Given the description of an element on the screen output the (x, y) to click on. 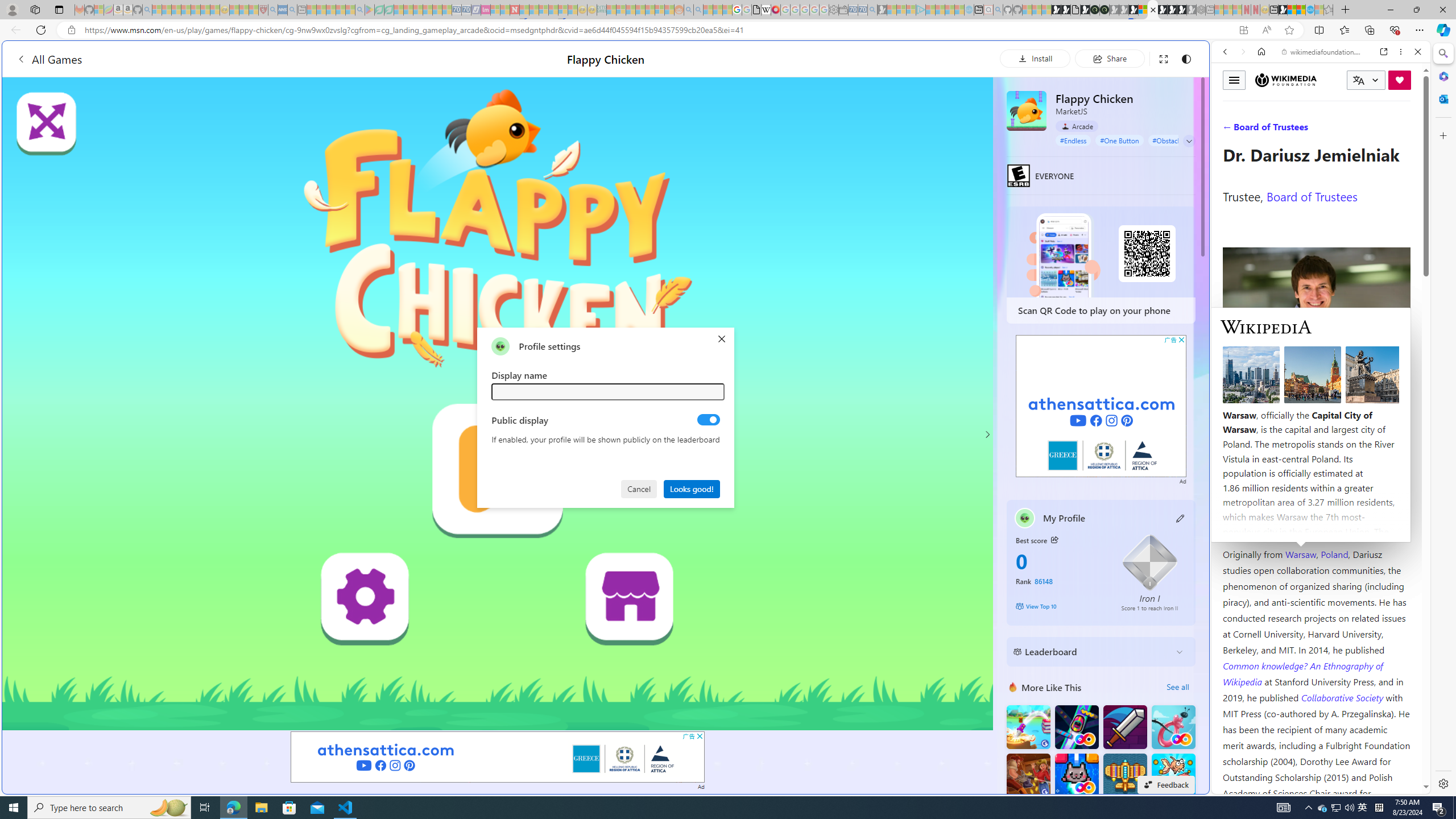
Bluey: Let's Play! - Apps on Google Play - Sleeping (369, 9)
Refresh (40, 29)
Wikimedia Foundation (1286, 79)
Arcade (1076, 126)
More Like This (1012, 686)
Kozminski University (1316, 486)
SEARCH TOOLS (1350, 130)
Browser essentials (1394, 29)
Collaborative Society  (1343, 697)
Ad (1182, 480)
App bar (728, 29)
Looks good! (691, 488)
Wikimedia Foundation (1285, 79)
